Given the description of an element on the screen output the (x, y) to click on. 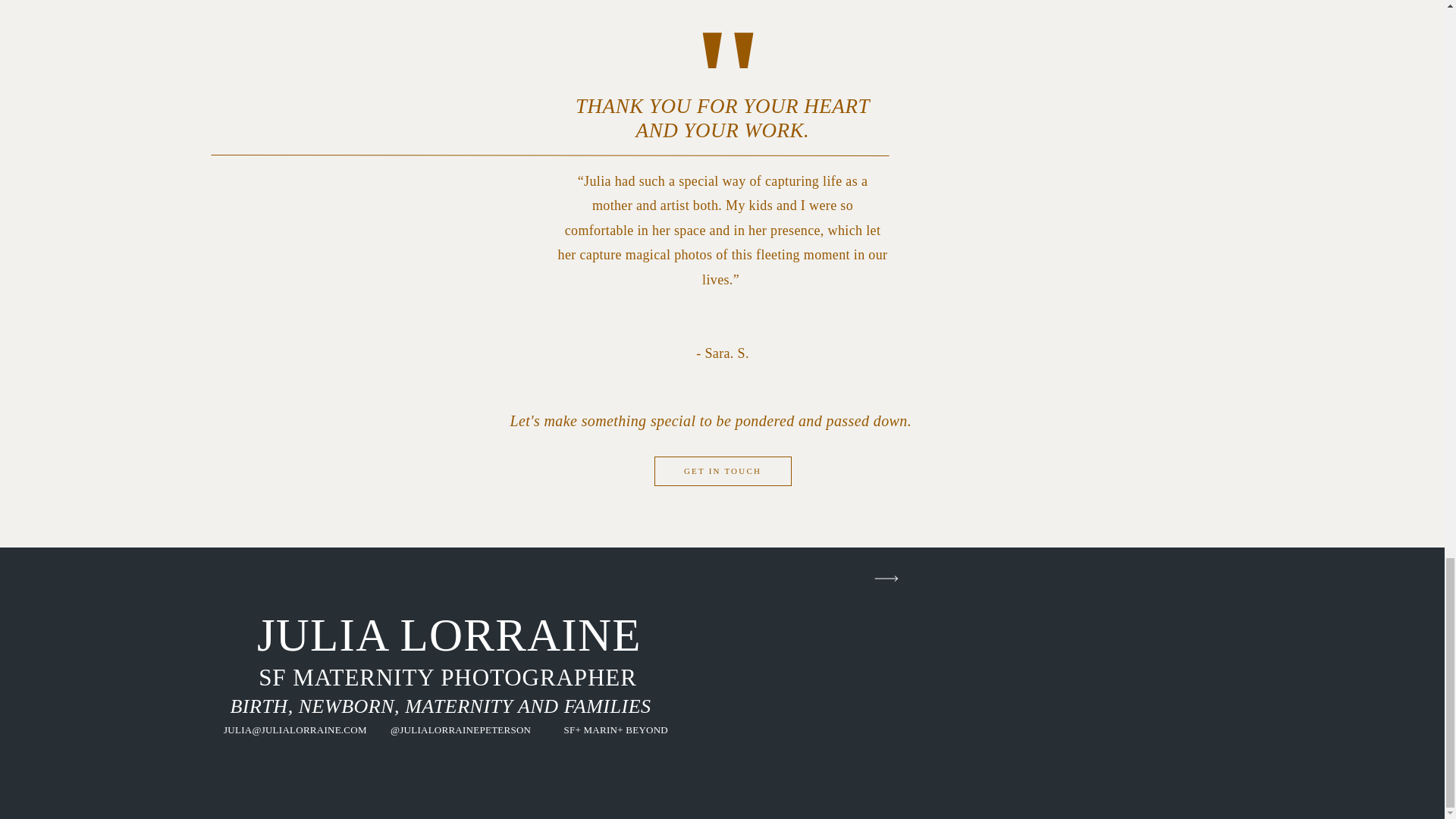
GET IN TOUCH (722, 474)
